Given the description of an element on the screen output the (x, y) to click on. 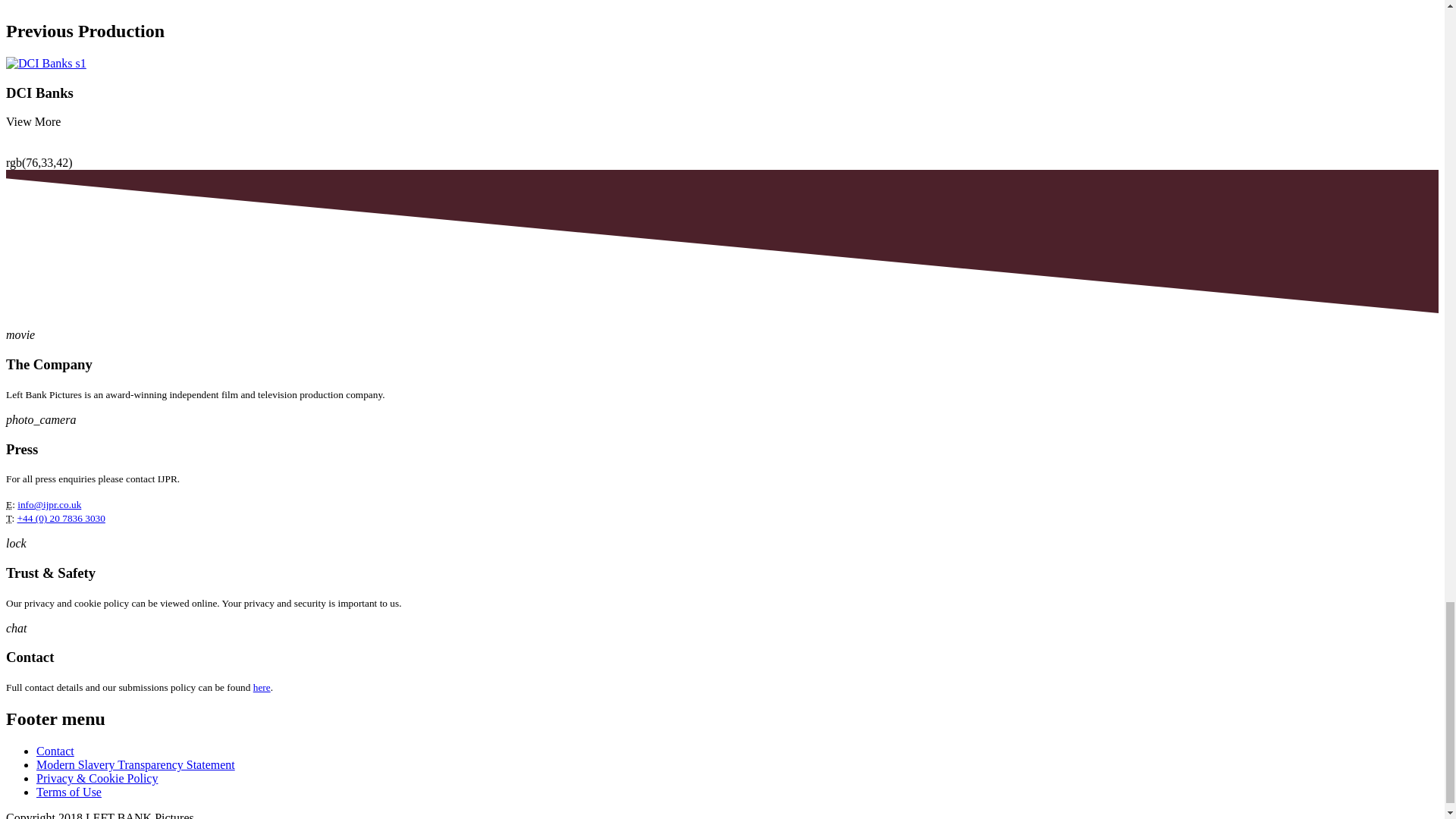
Terms of Use (68, 791)
here (261, 686)
Contact (55, 750)
Modern Slavery Transparency Statement (135, 764)
